Given the description of an element on the screen output the (x, y) to click on. 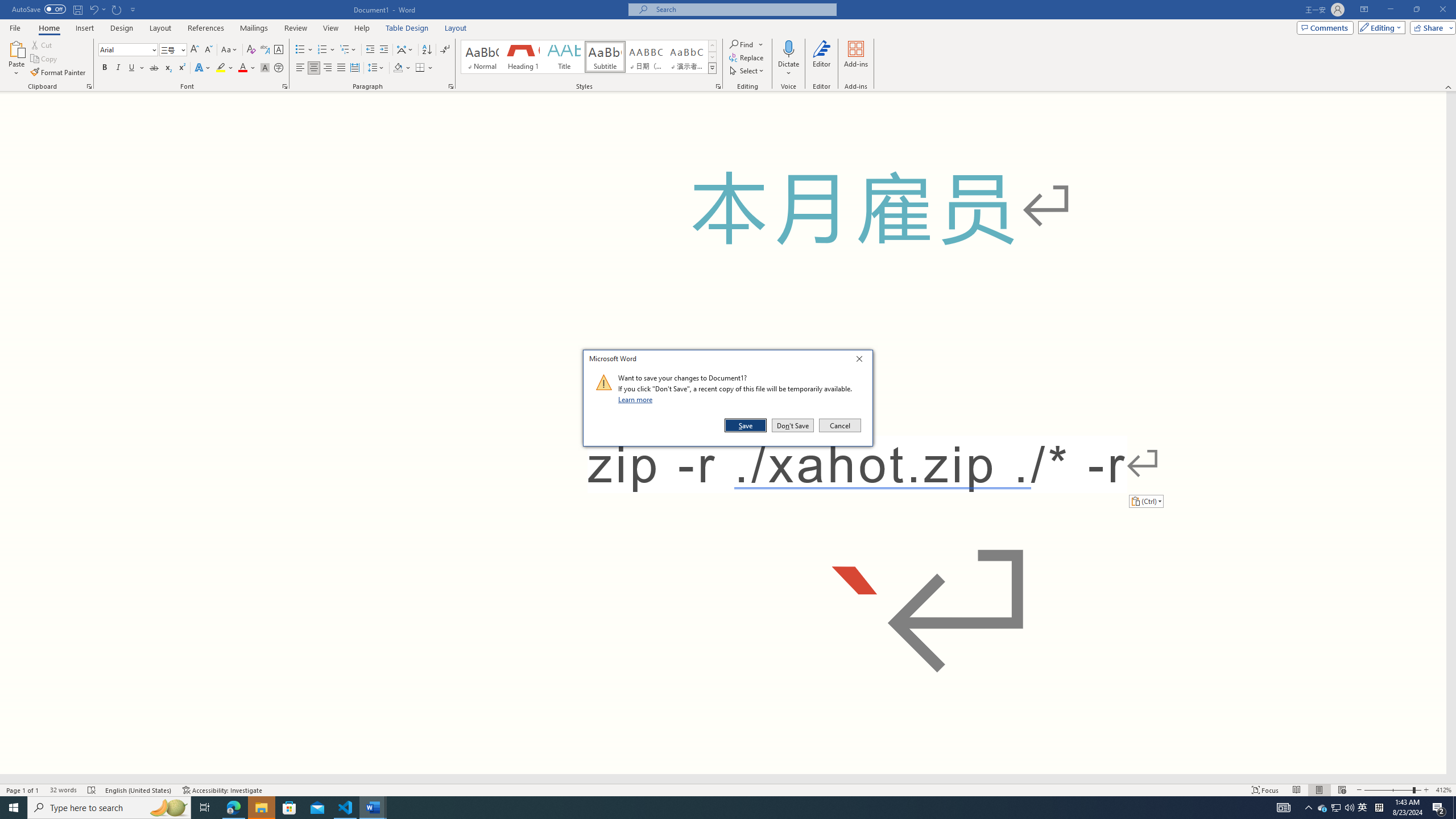
Action: Paste alternatives (1145, 500)
Microsoft Edge - 1 running window (233, 807)
